Given the description of an element on the screen output the (x, y) to click on. 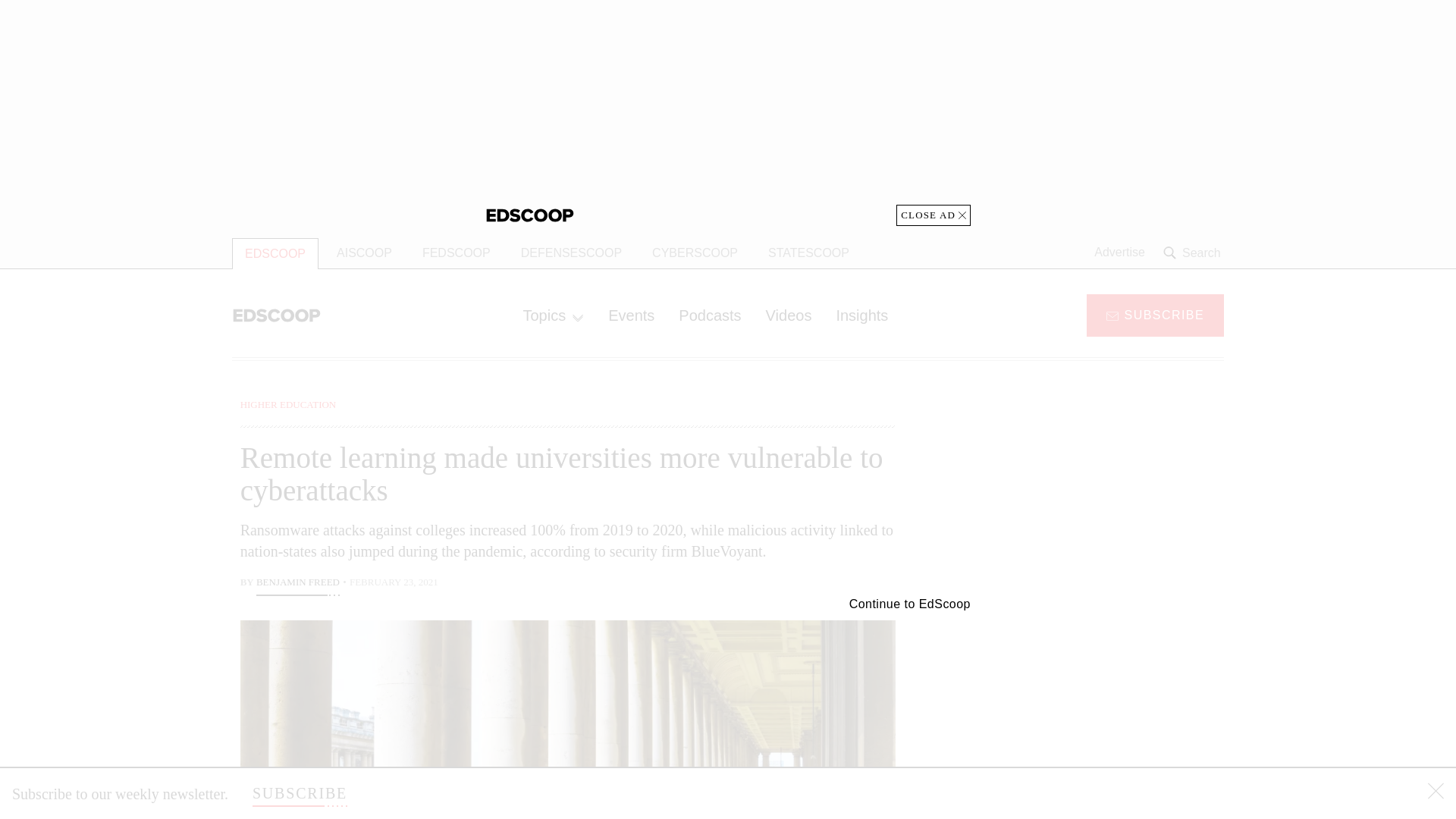
SUBSCRIBE (1155, 314)
3rd party ad content (1101, 705)
Benjamin Freed (297, 583)
CYBERSCOOP (694, 253)
Videos (789, 315)
3rd party ad content (1101, 492)
HIGHER EDUCATION (288, 404)
SUBSCRIBE (299, 793)
Podcasts (709, 315)
EDSCOOP (274, 253)
AISCOOP (364, 253)
DEFENSESCOOP (570, 253)
FEDSCOOP (456, 253)
